Given the description of an element on the screen output the (x, y) to click on. 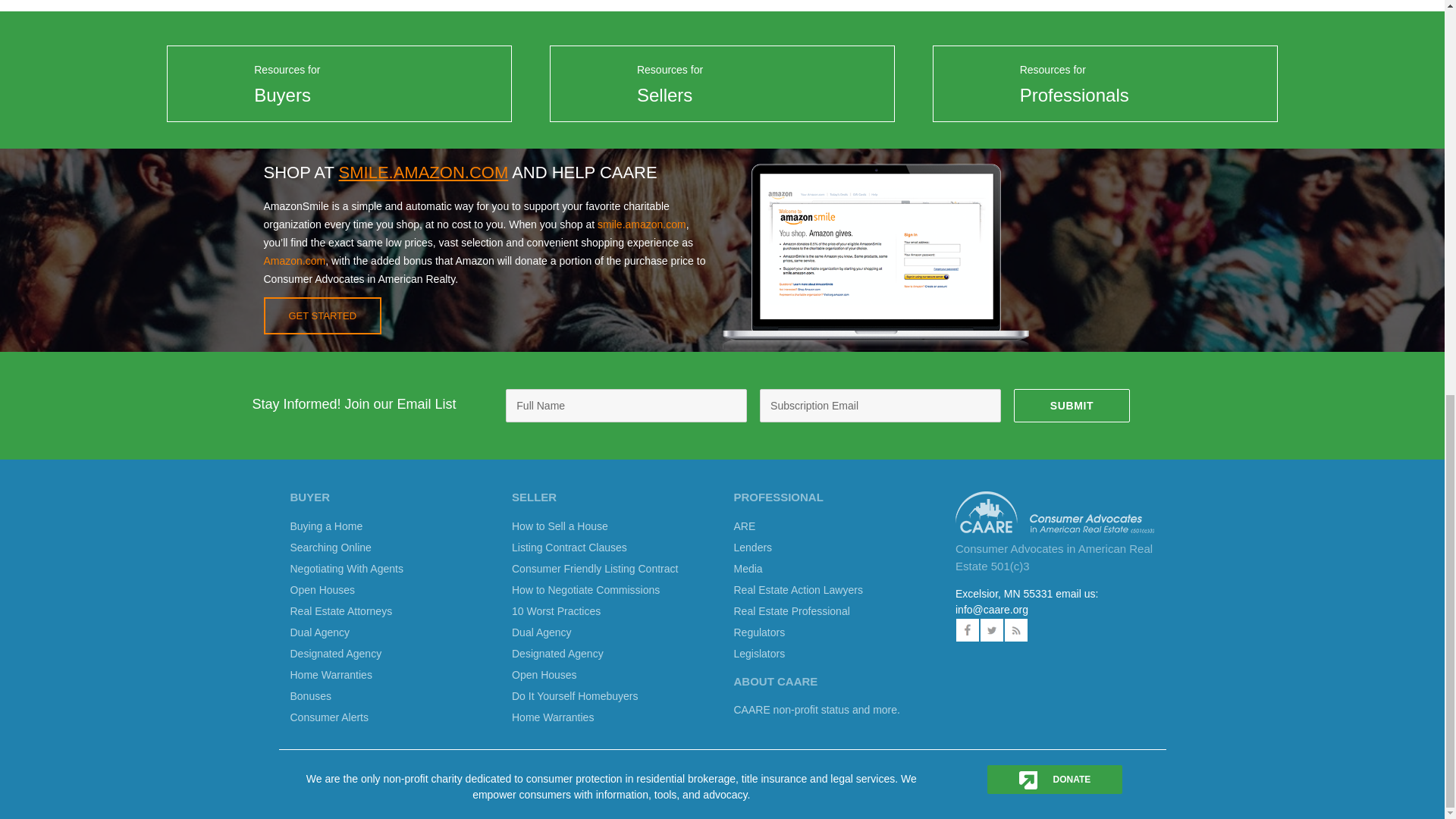
10 Worst Practices (555, 611)
Designated Agency (335, 653)
Buying a Home (325, 526)
smile.amazon.com (640, 224)
Amazon.com (294, 260)
Consumer Friendly Listing Contract (595, 568)
Consumer Alerts (328, 717)
GET STARTED (322, 315)
SMILE.AMAZON.COM (423, 171)
Open Houses (322, 589)
SUBMIT (1071, 405)
Bonuses (309, 695)
Listing Contract Clauses (569, 547)
Negotiating With Agents (346, 568)
Home Warranties (330, 674)
